Given the description of an element on the screen output the (x, y) to click on. 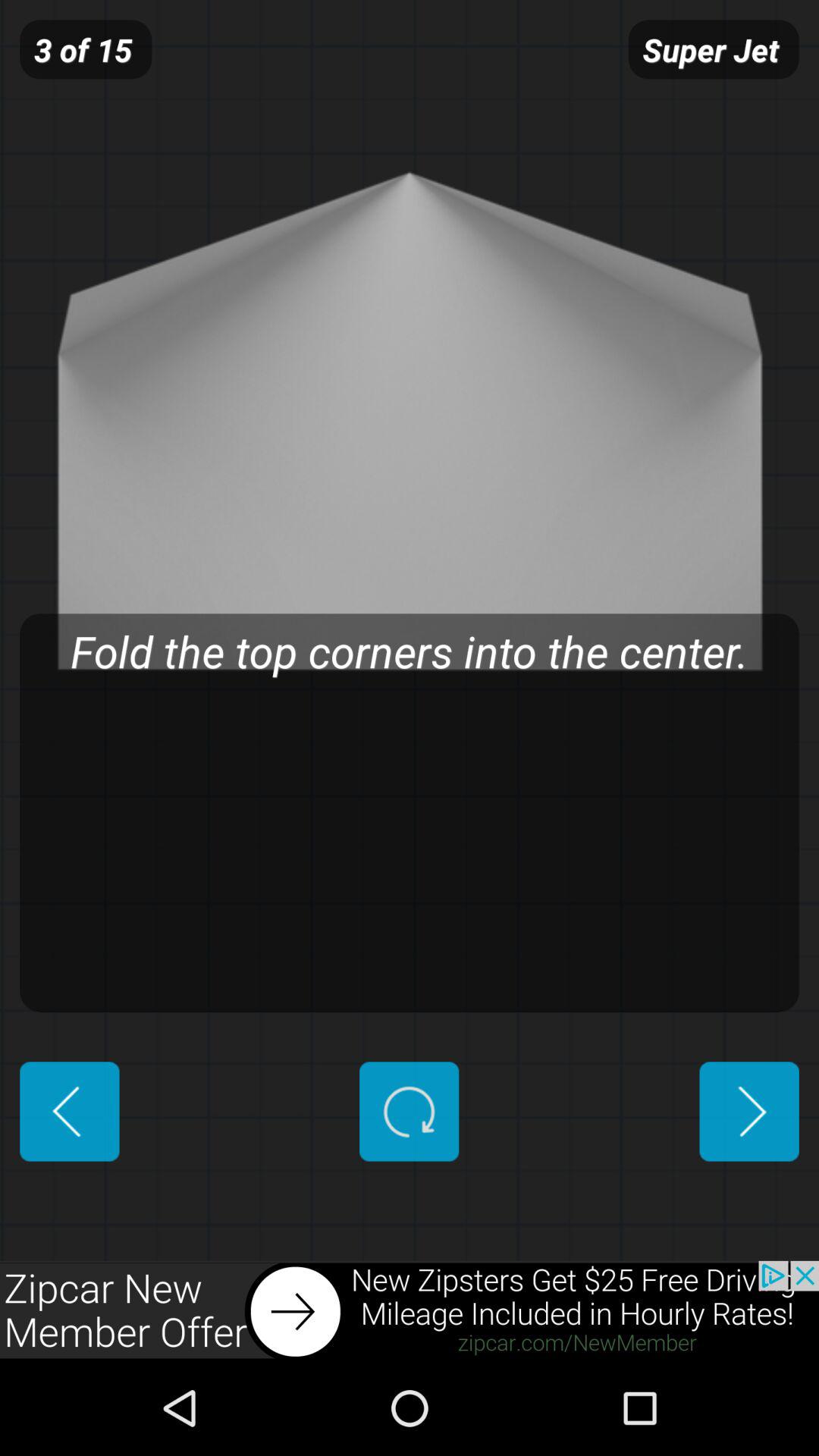
go to previous (749, 1111)
